Given the description of an element on the screen output the (x, y) to click on. 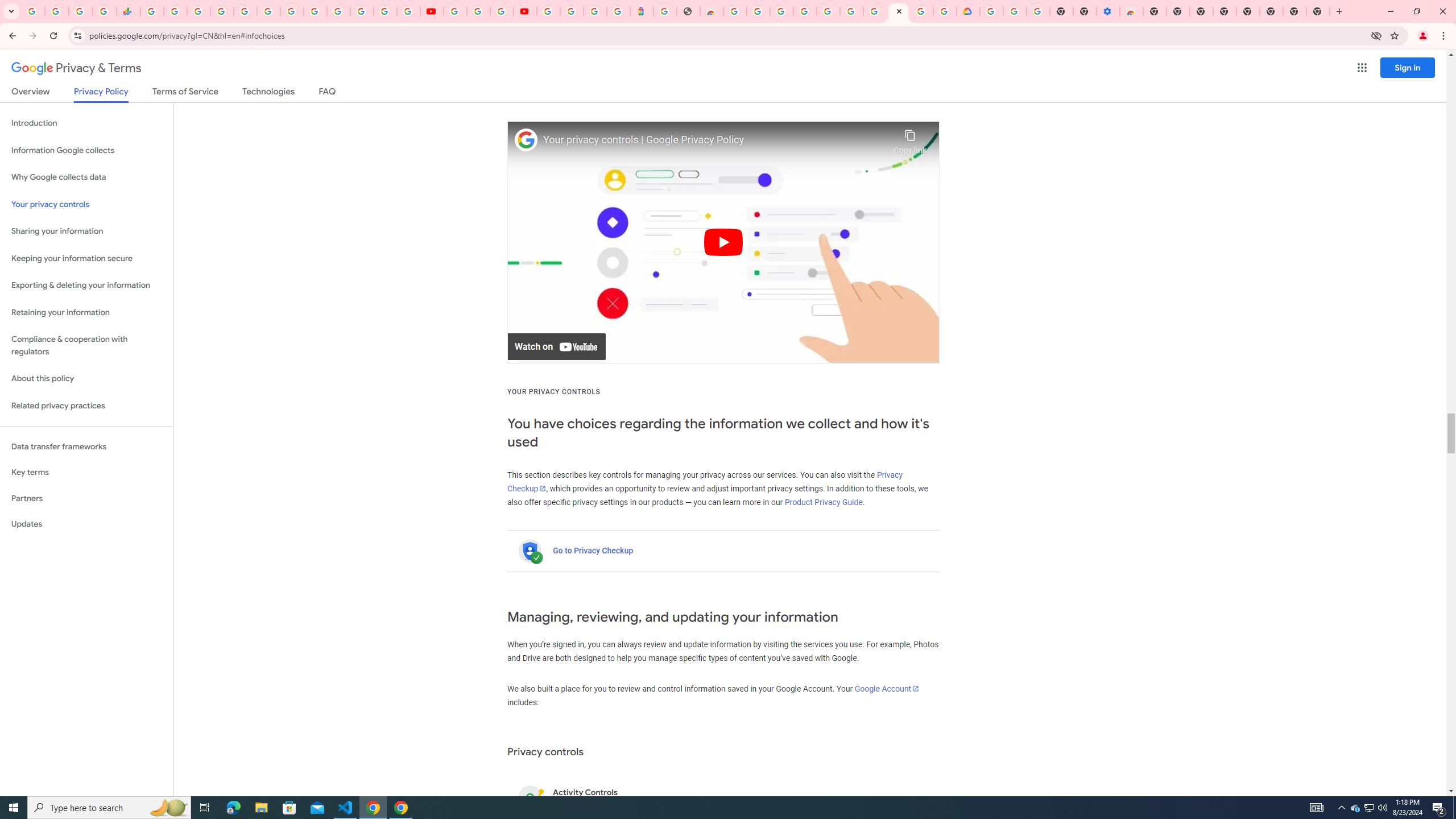
Play (723, 242)
Android TV Policies and Guidelines - Transparency Center (291, 11)
Chrome Web Store - Accessibility extensions (1131, 11)
Sign in - Google Accounts (571, 11)
Browse the Google Chrome Community - Google Chrome Community (945, 11)
Google Account Help (1015, 11)
